Given the description of an element on the screen output the (x, y) to click on. 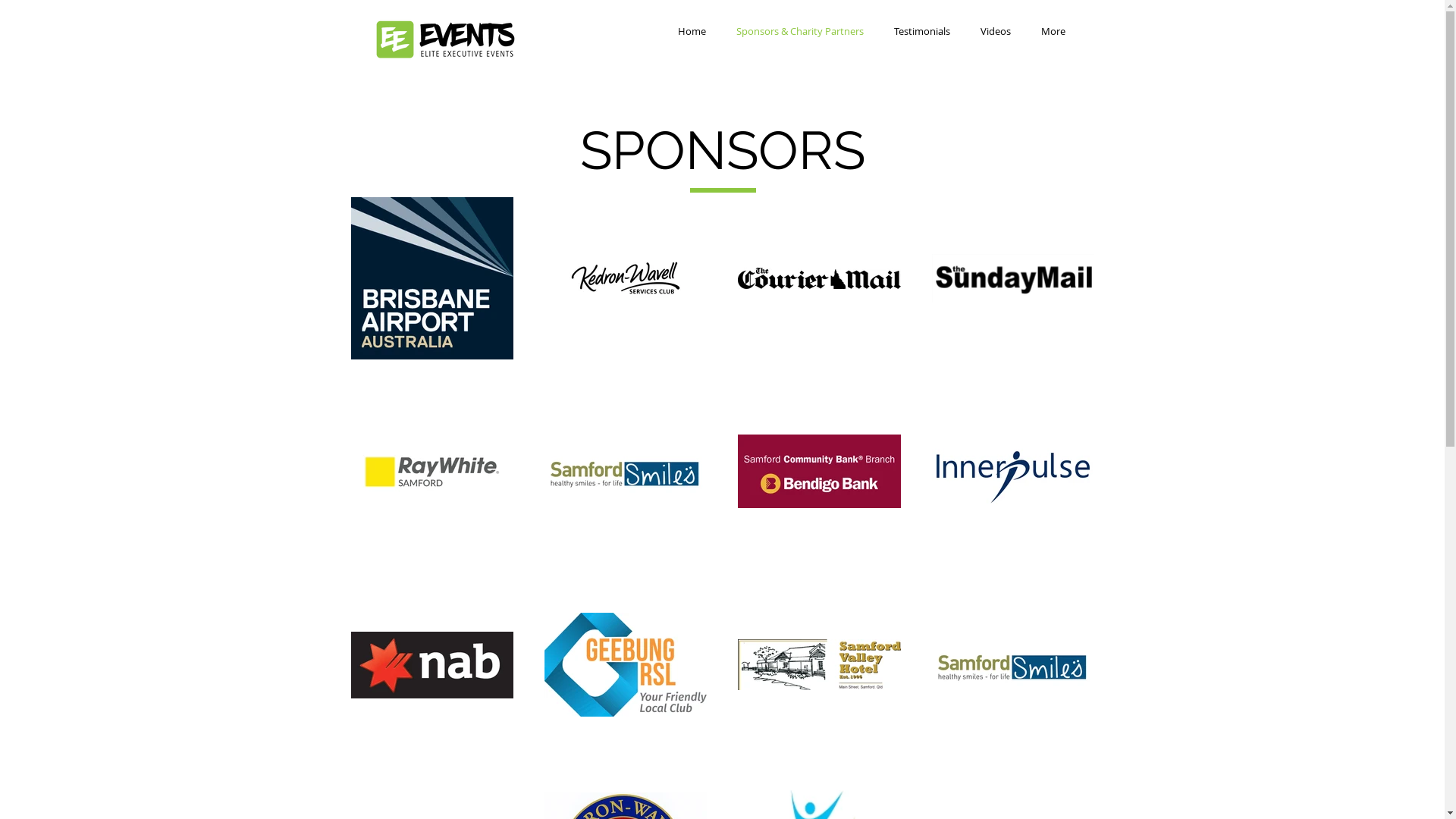
Sponsors & Charity Partners Element type: text (799, 30)
Testimonials Element type: text (921, 30)
Videos Element type: text (994, 30)
Home Element type: text (691, 30)
